Given the description of an element on the screen output the (x, y) to click on. 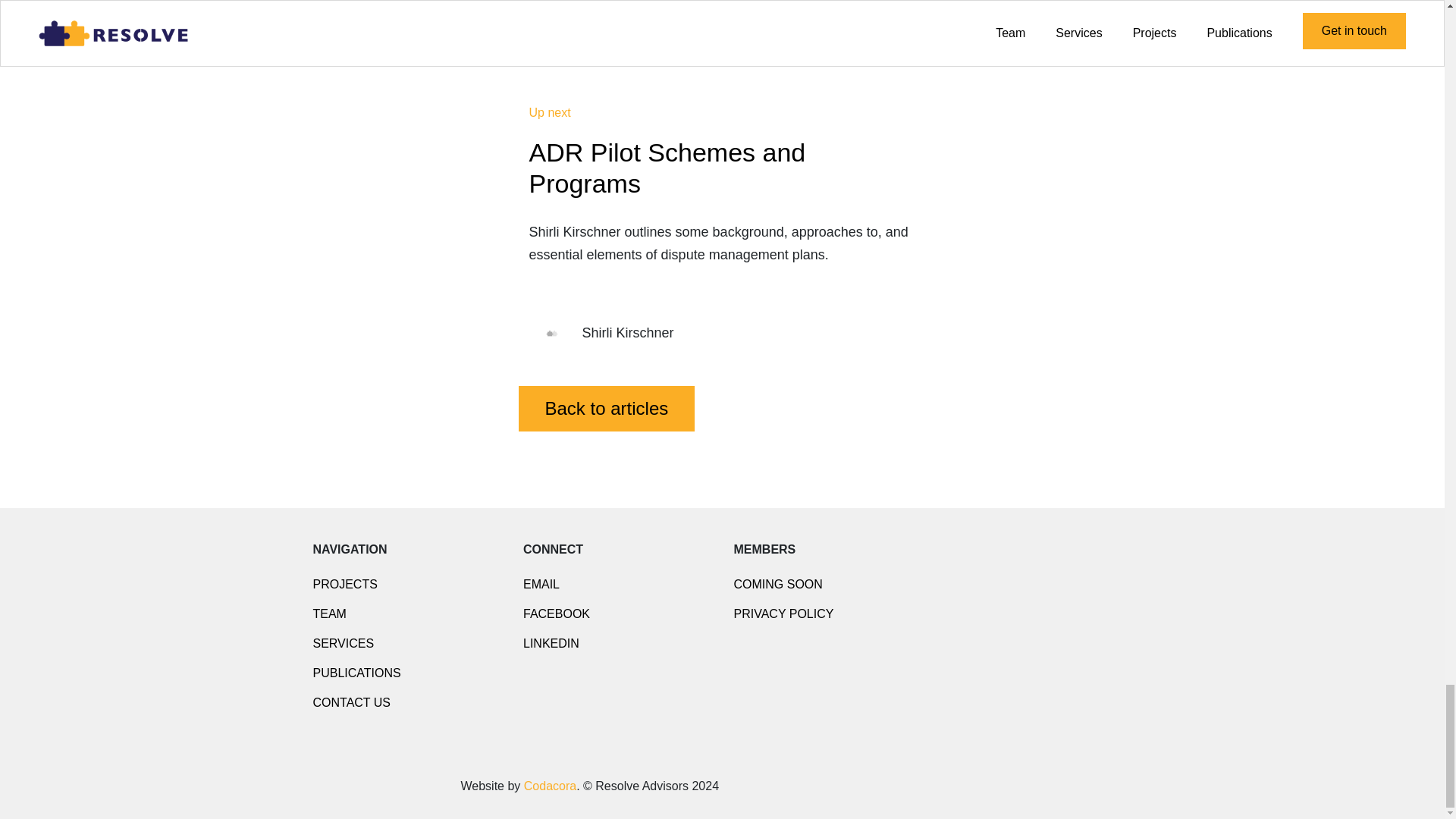
PRIVACY POLICY (783, 613)
resolve-logo (376, 784)
TEAM (329, 613)
EMAIL (540, 584)
CONTACT US (351, 702)
Codacora (550, 785)
PROJECTS (345, 584)
ADR Pilot Schemes and Programs (667, 168)
FACEBOOK (555, 613)
SERVICES (343, 643)
LINKEDIN (550, 643)
PUBLICATIONS (356, 672)
Back to articles (606, 408)
COMING SOON (777, 584)
